Given the description of an element on the screen output the (x, y) to click on. 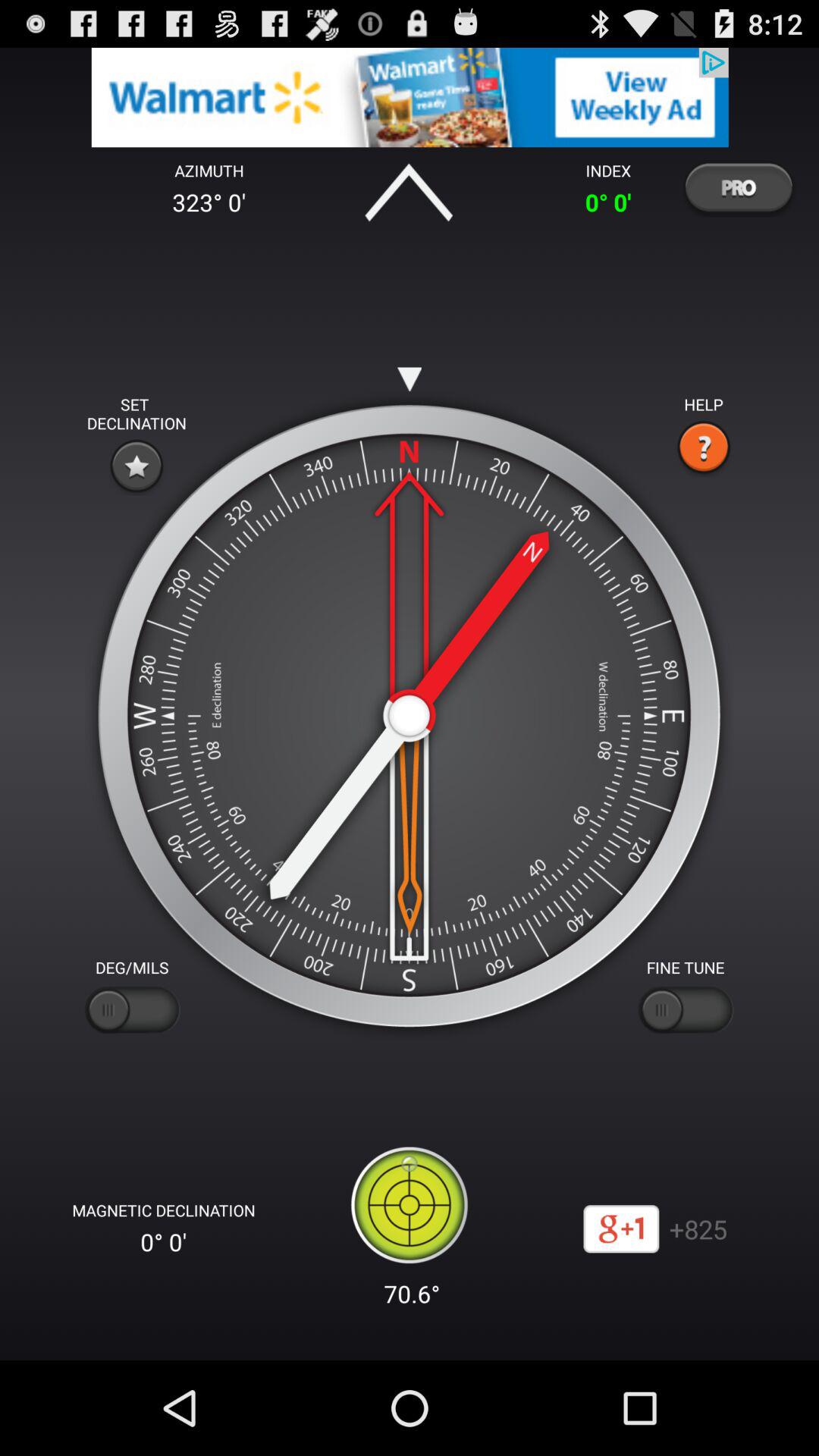
pro (737, 187)
